Given the description of an element on the screen output the (x, y) to click on. 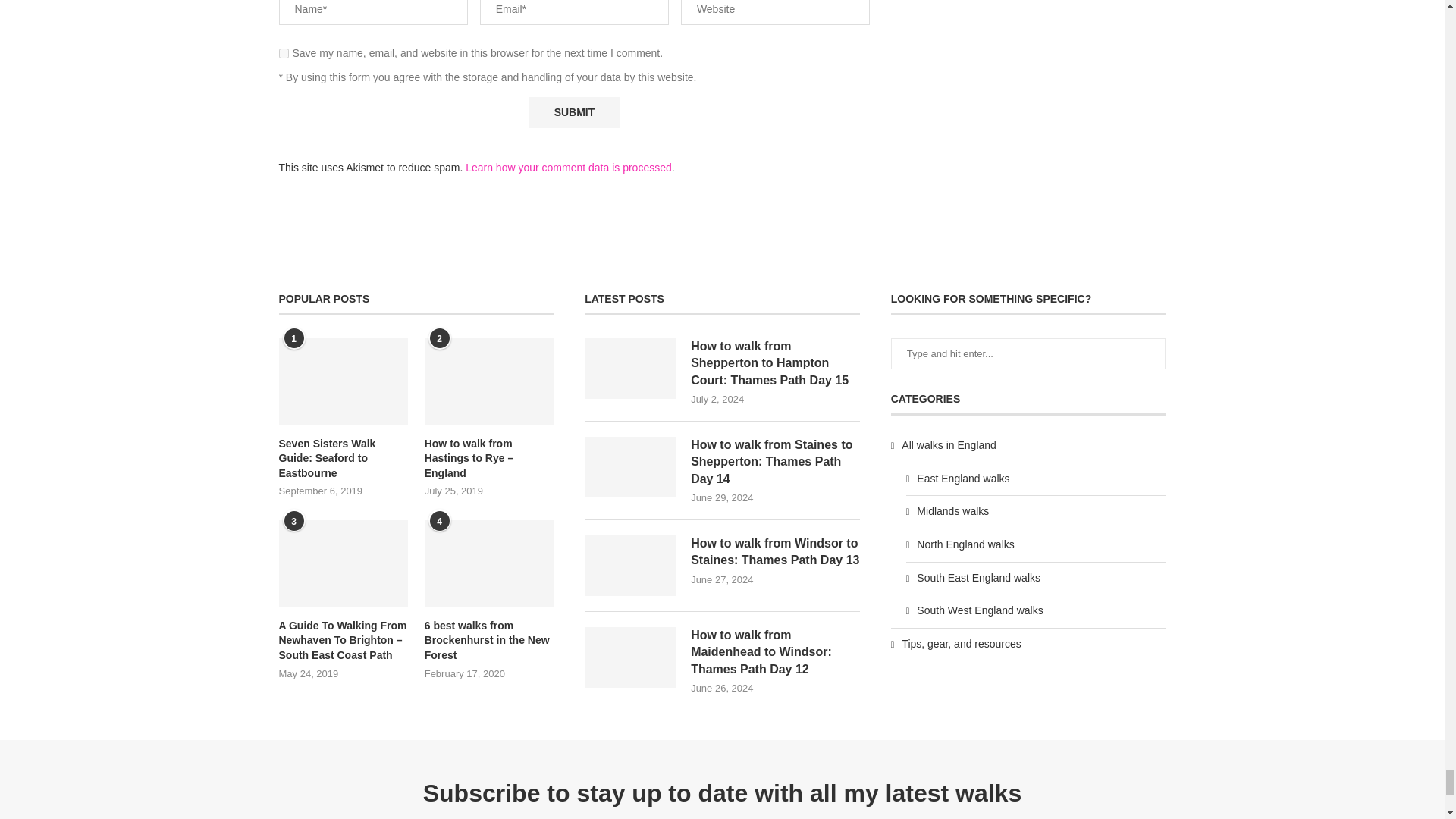
Submit (574, 112)
6 best walks from Brockenhurst in the New Forest (489, 641)
Seven Sisters Walk Guide: Seaford to Eastbourne (343, 458)
yes (283, 53)
6 best walks from Brockenhurst in the New Forest (489, 563)
Seven Sisters Walk Guide: Seaford to Eastbourne (343, 381)
